Given the description of an element on the screen output the (x, y) to click on. 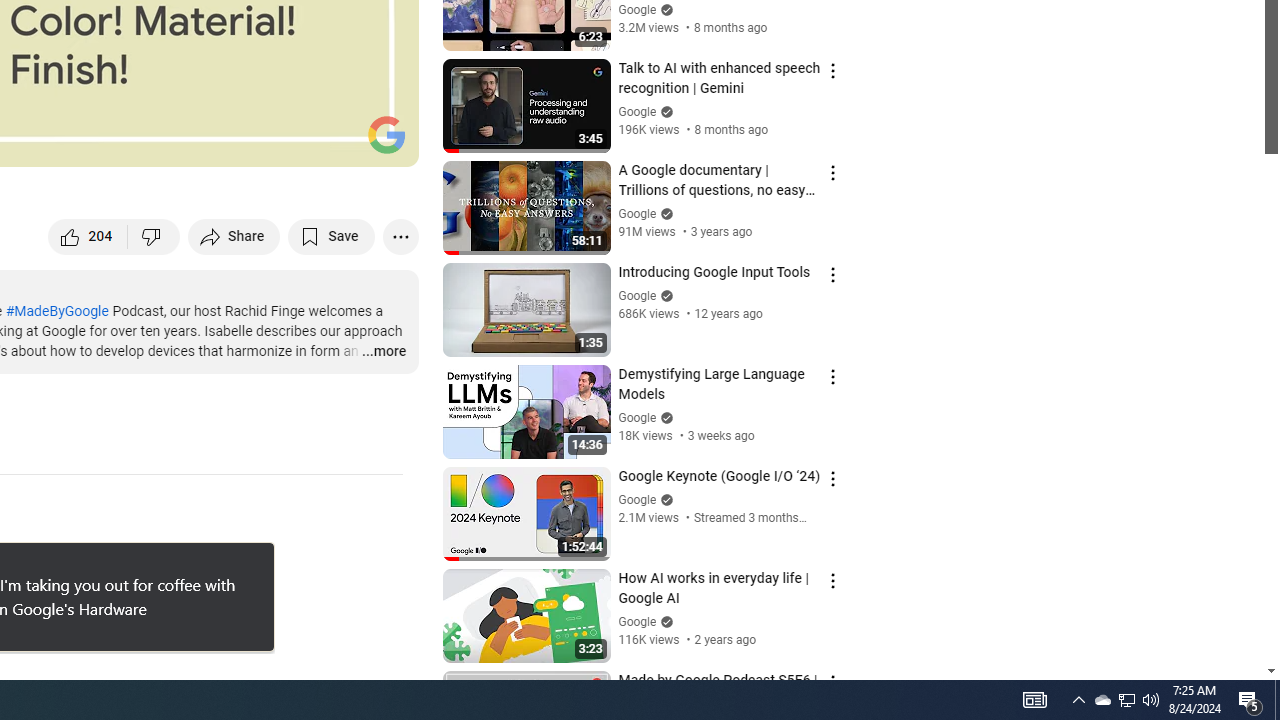
Full screen (f) (382, 142)
#MadeByGoogle (56, 311)
Channel watermark (386, 134)
Miniplayer (i) (286, 142)
Share (234, 236)
Subtitles/closed captions unavailable (190, 142)
...more (382, 352)
Save to playlist (331, 236)
Autoplay is on (141, 142)
Dislike this video (154, 236)
Action menu (832, 682)
